Given the description of an element on the screen output the (x, y) to click on. 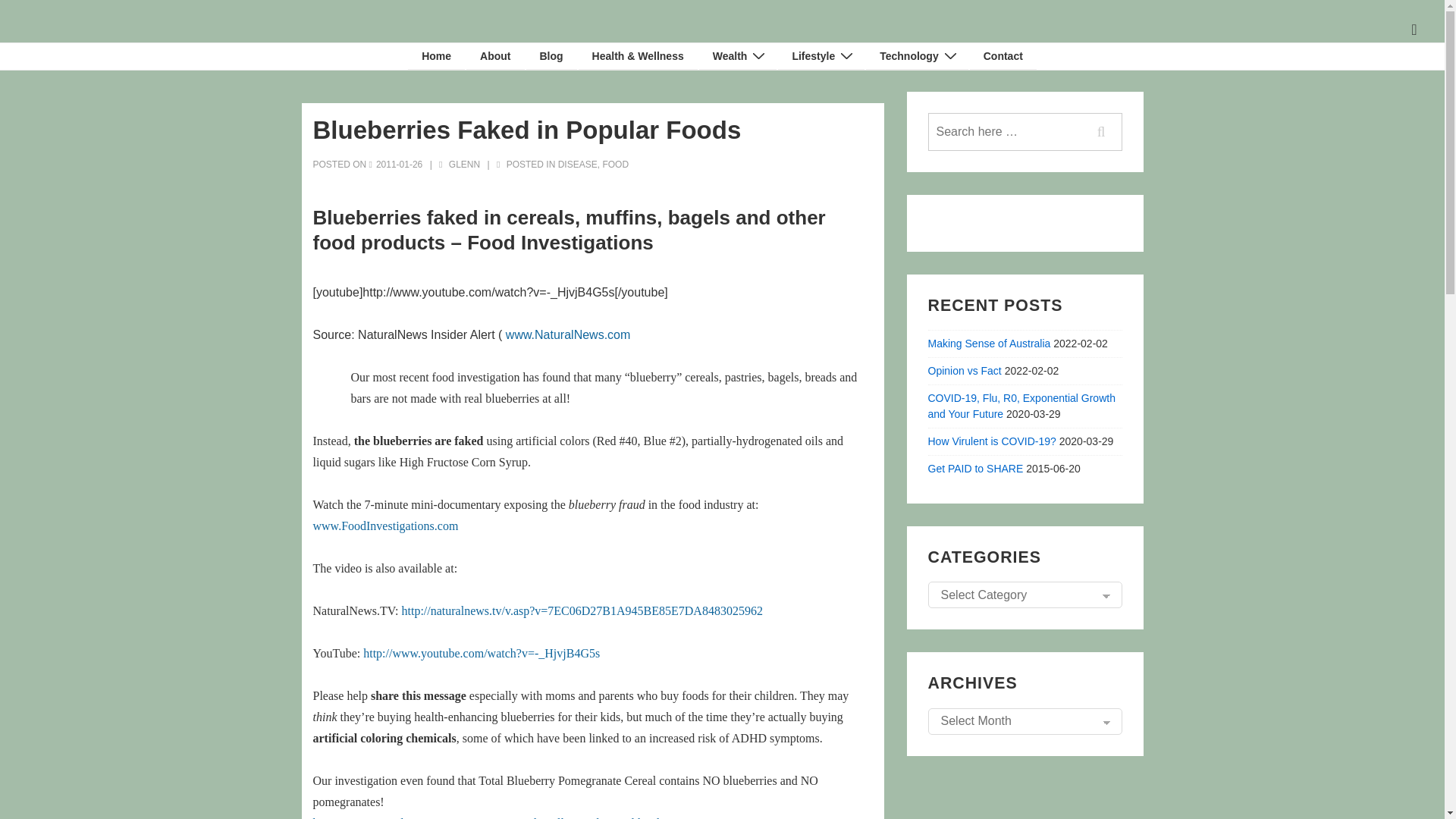
www.FoodInvestigations.com (385, 525)
Home (435, 55)
www.NaturalNews.com (567, 334)
View all posts by Glenn (460, 163)
DISEASE (576, 163)
Technology (917, 55)
FOOD (615, 163)
Wealth (737, 55)
Lifestyle (820, 55)
